Given the description of an element on the screen output the (x, y) to click on. 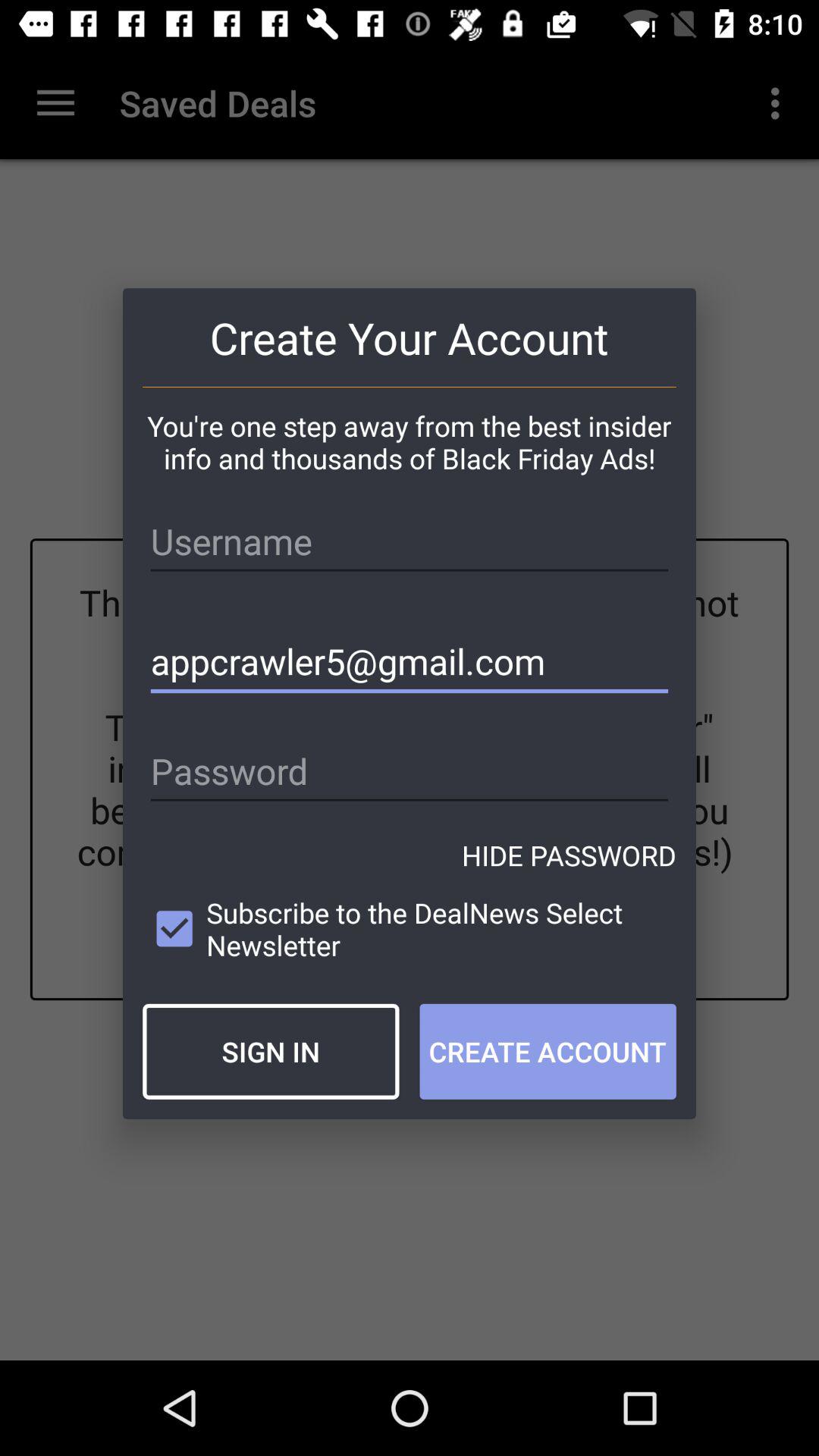
turn off the icon below subscribe to the (270, 1051)
